Given the description of an element on the screen output the (x, y) to click on. 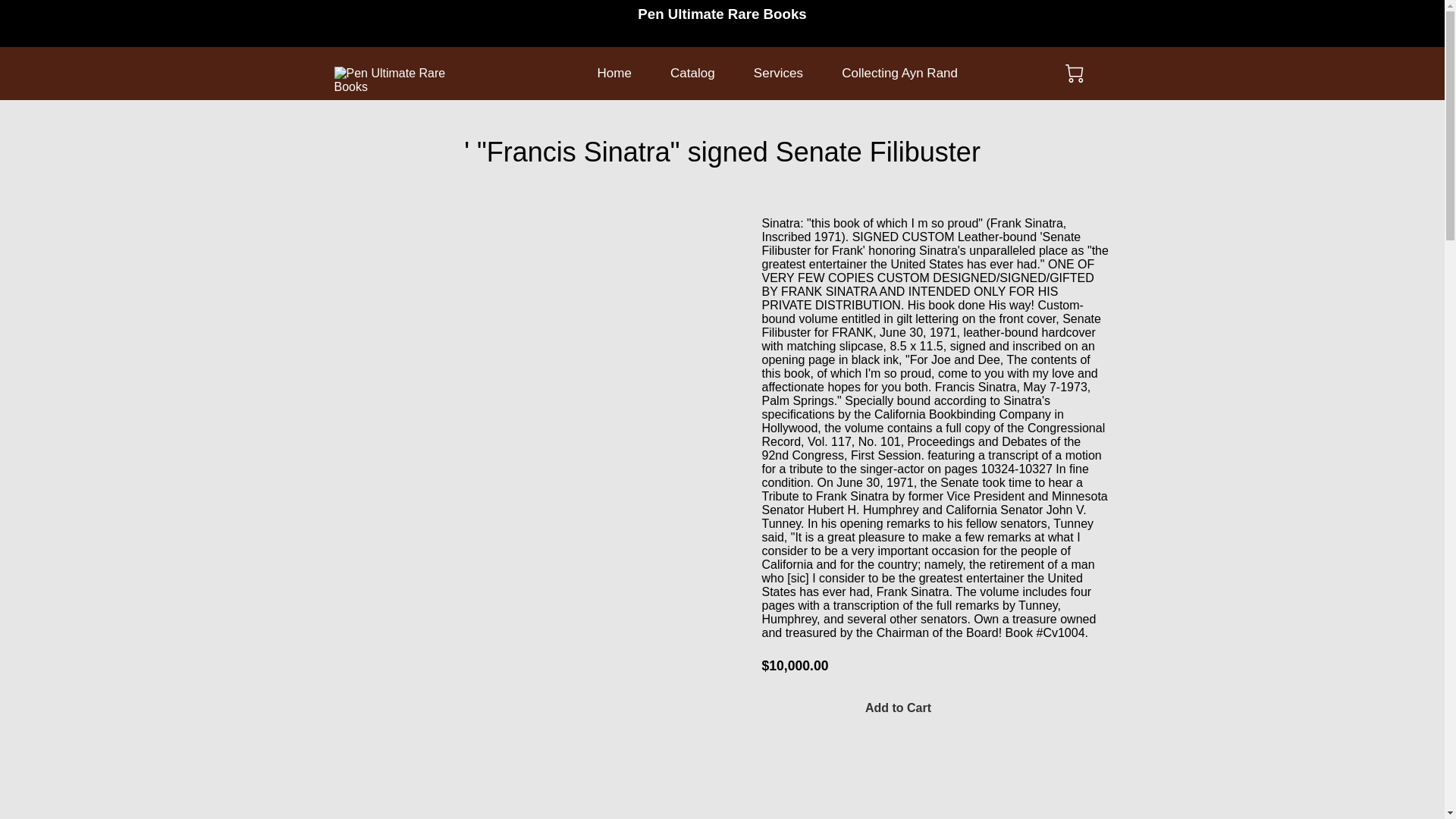
Collecting Ayn Rand (899, 73)
Add to Cart (897, 707)
Catalog (691, 73)
Services (778, 73)
Home (613, 73)
0 (1073, 73)
